Given the description of an element on the screen output the (x, y) to click on. 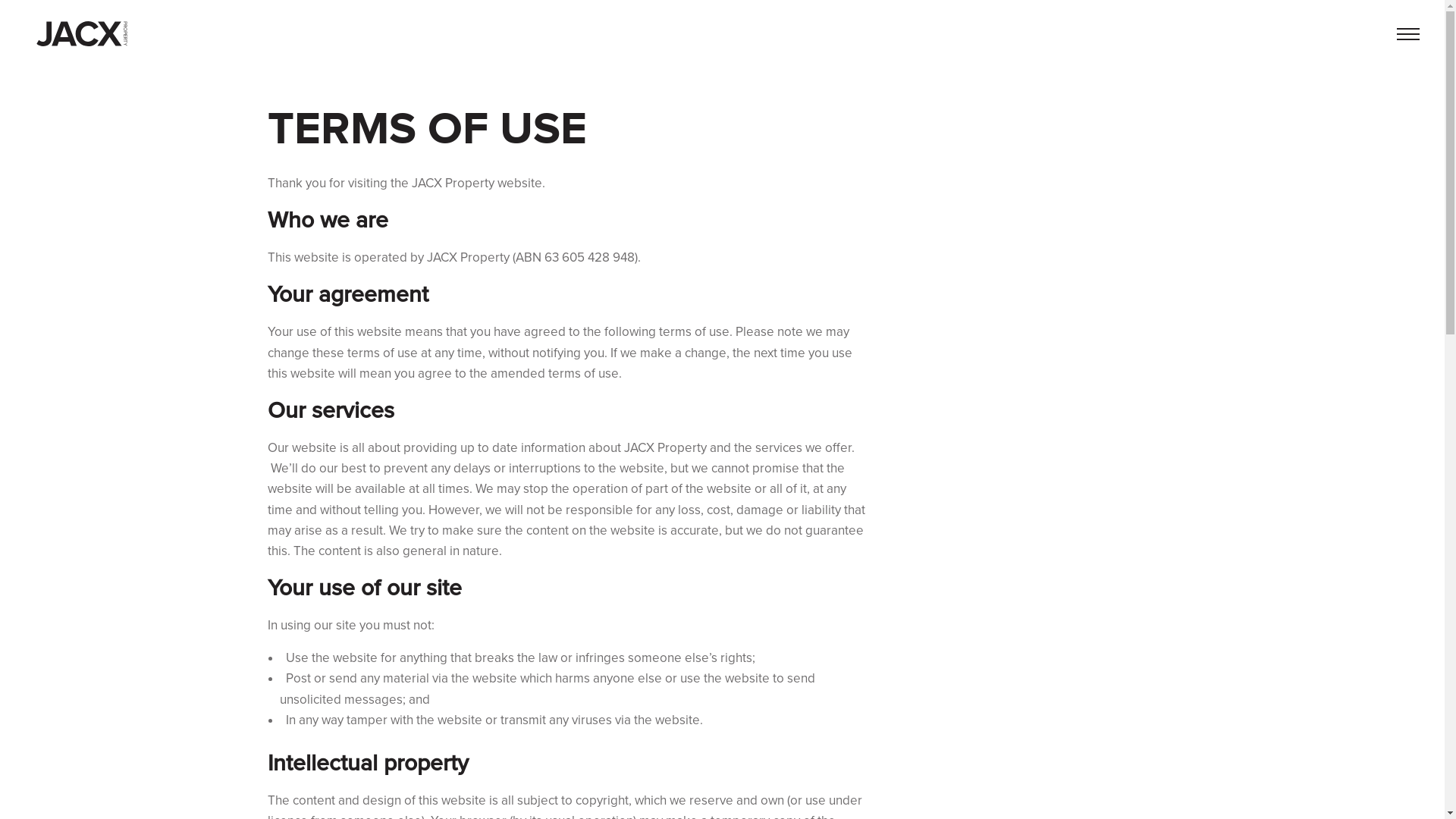
Back to home Element type: hover (81, 36)
